Given the description of an element on the screen output the (x, y) to click on. 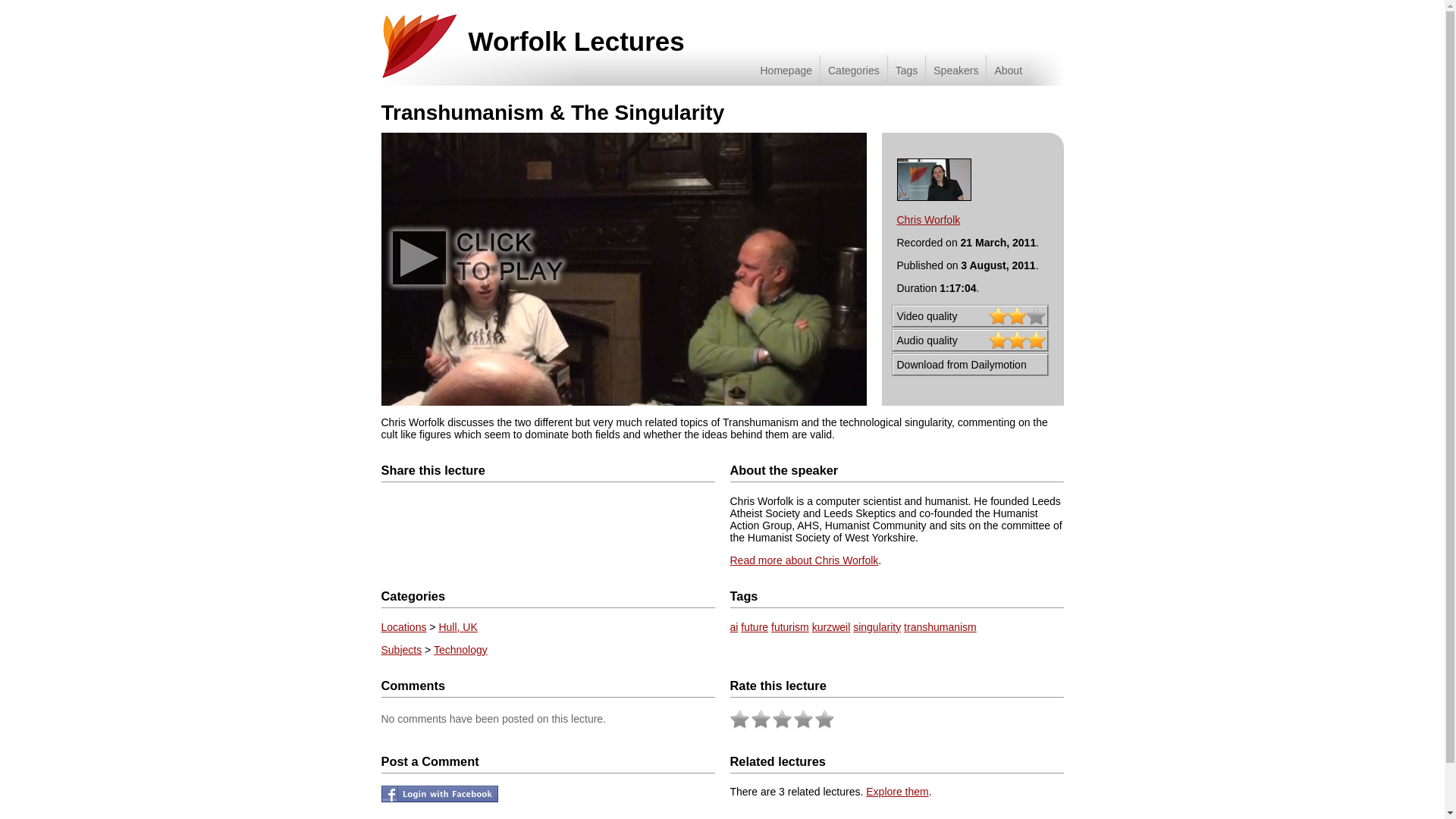
transhumanism (940, 625)
Homepage (785, 70)
futurism (790, 625)
Audio quality (968, 340)
Locations (403, 625)
kurzweil (831, 625)
Subjects (401, 648)
Chris Worfolk (927, 219)
Tags (906, 70)
Technology (460, 648)
